Given the description of an element on the screen output the (x, y) to click on. 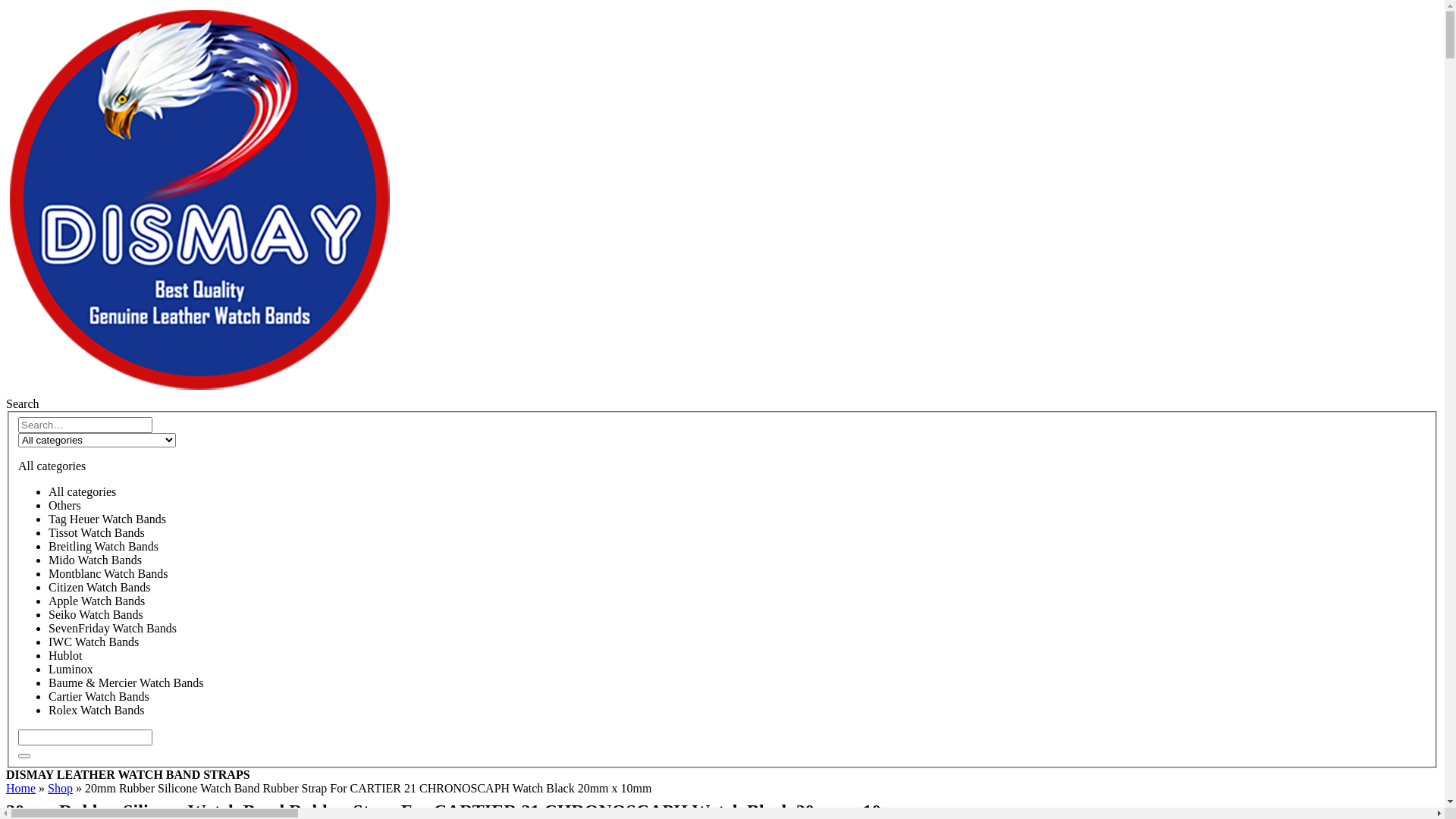
Search Element type: text (22, 403)
Shop Element type: text (59, 787)
Search Element type: hover (24, 755)
Home Element type: text (20, 787)
Watch Bands - Dismay Replacement Leather Watch Bands Element type: hover (200, 389)
